Given the description of an element on the screen output the (x, y) to click on. 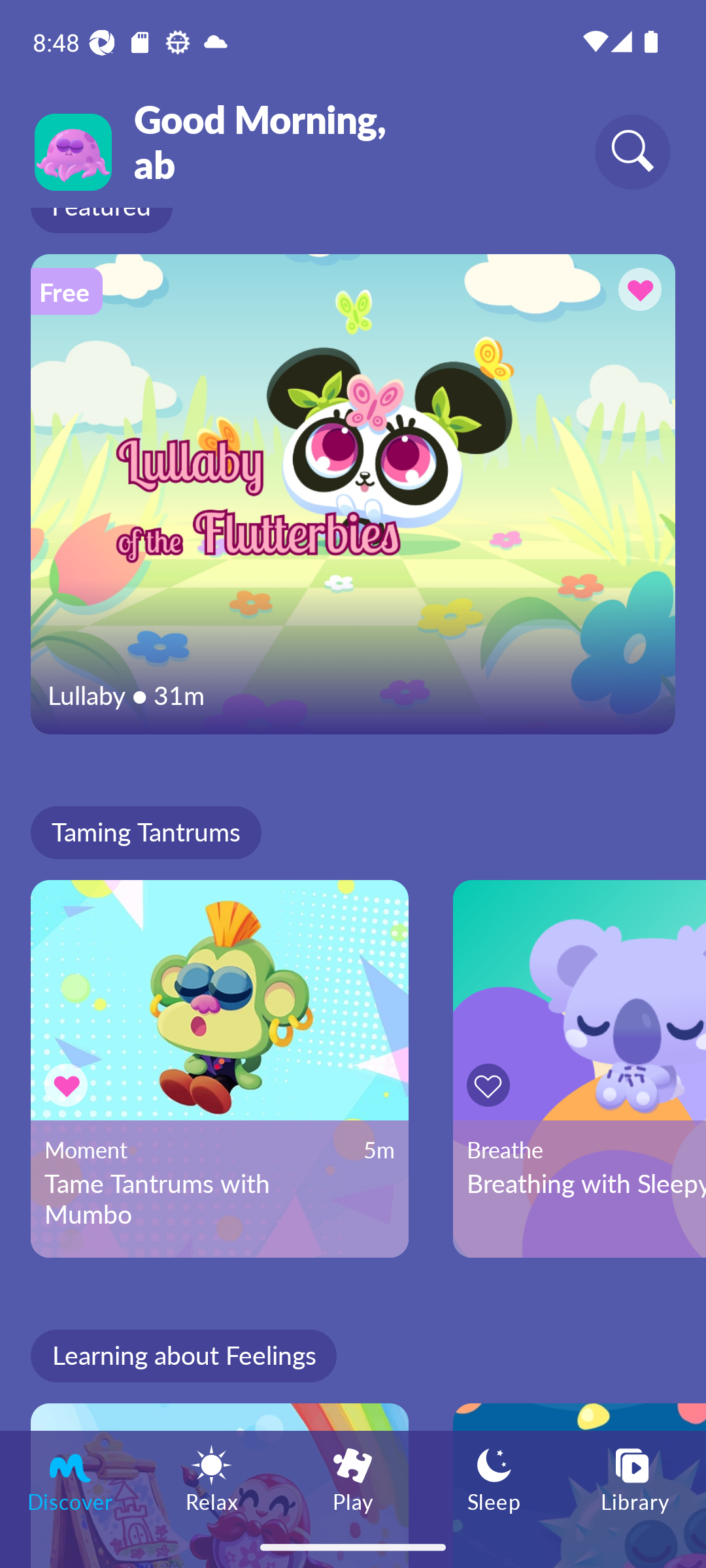
Search (632, 151)
Featured Content Free Button Lullaby ● 31m (352, 493)
Button (636, 292)
Button (69, 1084)
Button (491, 1084)
Relax (211, 1478)
Play (352, 1478)
Sleep (493, 1478)
Library (635, 1478)
